Given the description of an element on the screen output the (x, y) to click on. 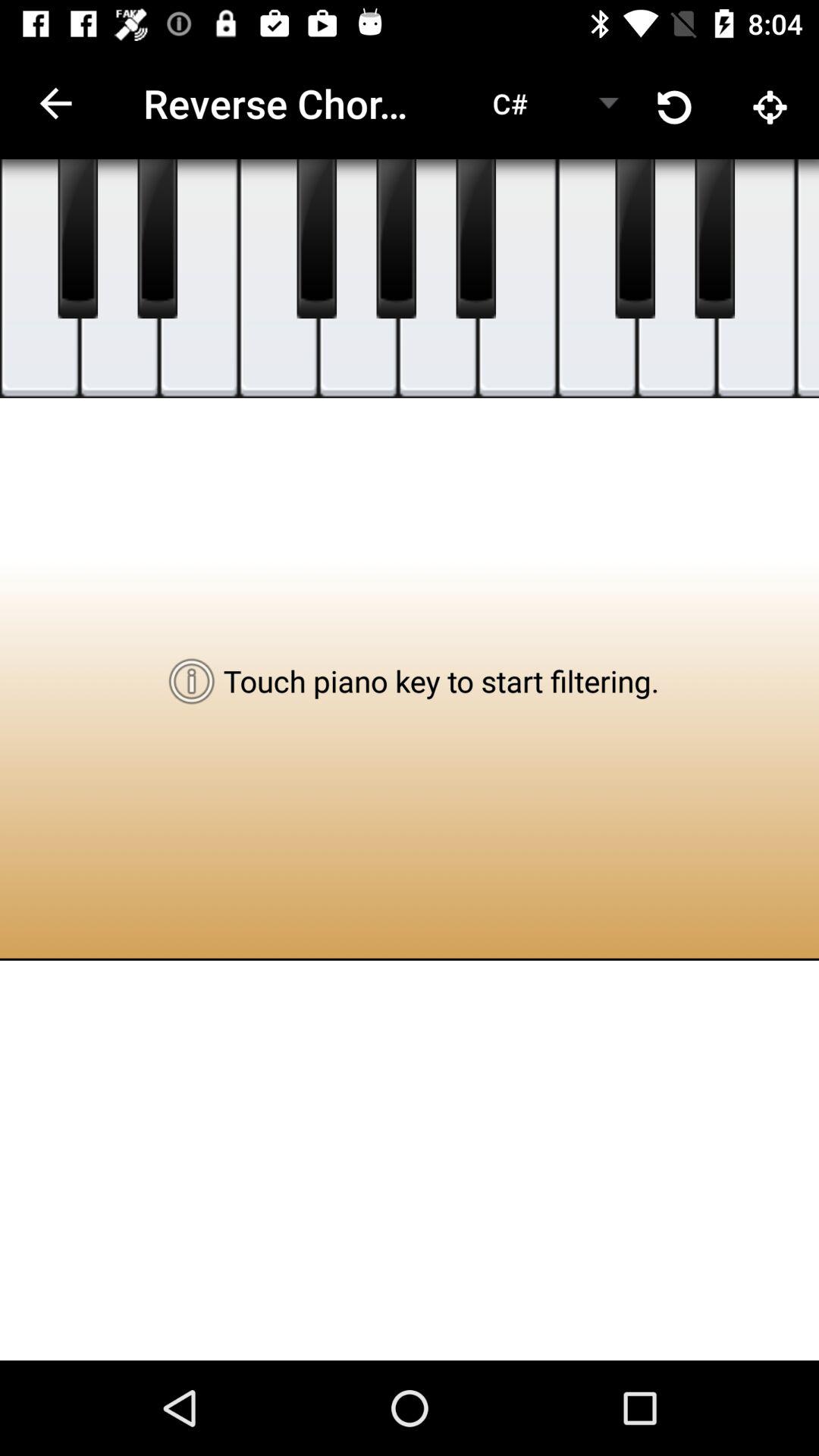
choose c# icon (509, 103)
